Given the description of an element on the screen output the (x, y) to click on. 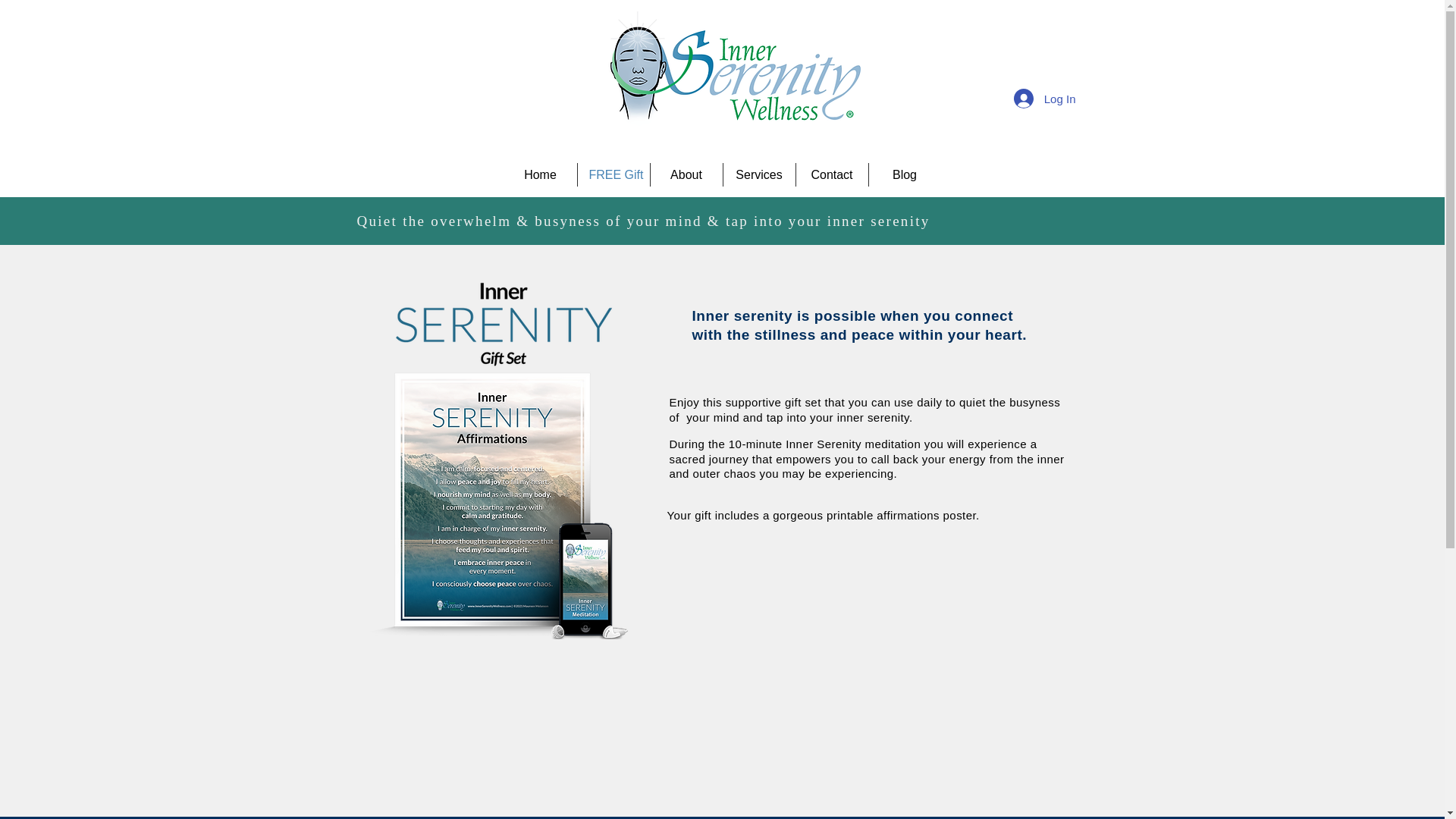
FREE Gift (613, 174)
Home (539, 174)
Log In (1044, 98)
Blog (904, 174)
Services (758, 174)
About (686, 174)
Contact (831, 174)
